Given the description of an element on the screen output the (x, y) to click on. 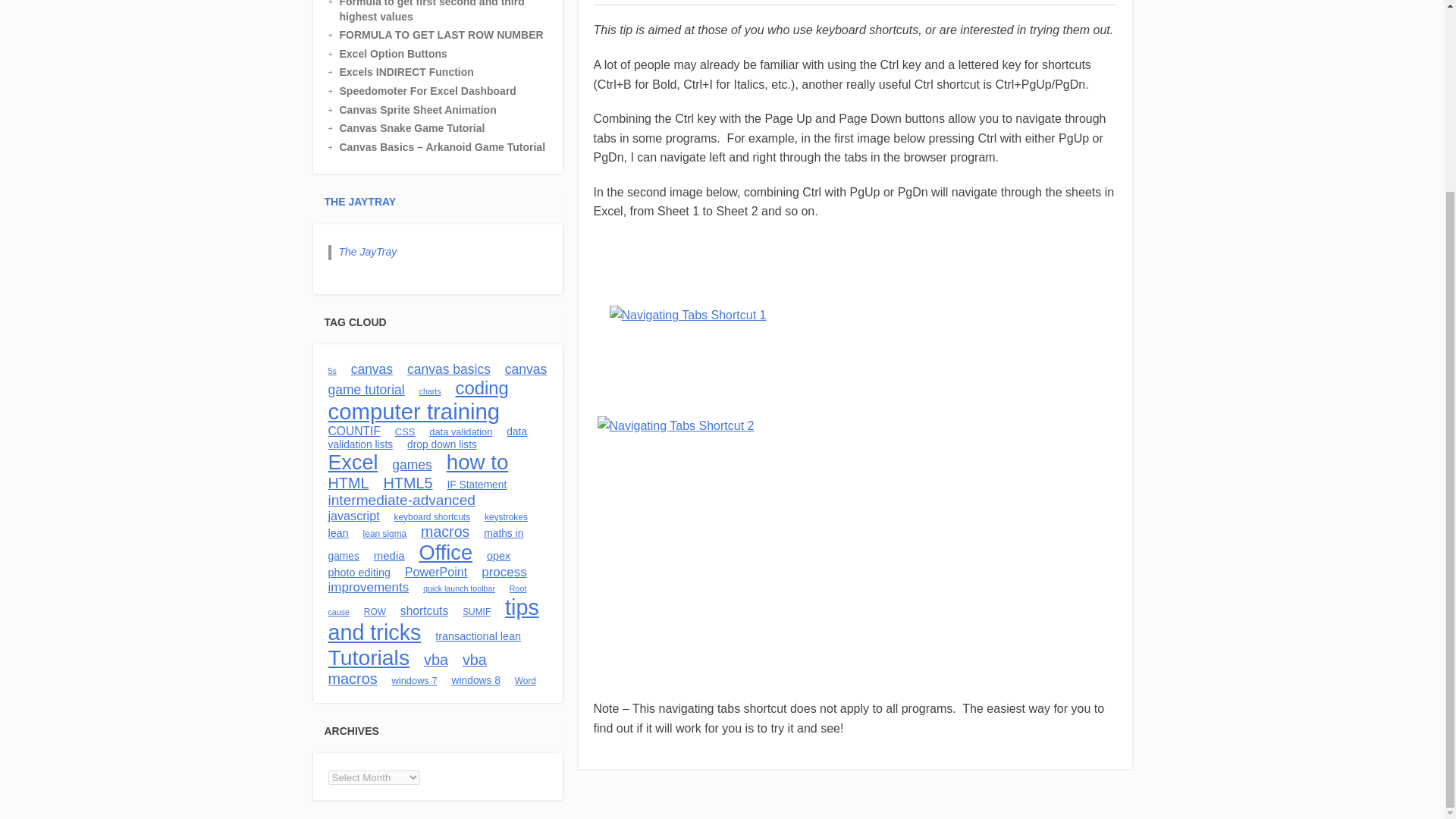
Canvas Snake Game Tutorial (449, 128)
FORMULA TO GET LAST ROW NUMBER (449, 35)
Formula to get first second and third highest values (449, 12)
intermediate-advanced (400, 499)
charts (430, 390)
HTML (347, 483)
javascript (352, 515)
5s (331, 370)
IF Statement (476, 484)
Canvas Sprite Sheet Animation (449, 110)
THE JAYTRAY (360, 201)
keystrokes (505, 516)
The JayTray (366, 251)
coding (481, 387)
COUNTIF (353, 431)
